Given the description of an element on the screen output the (x, y) to click on. 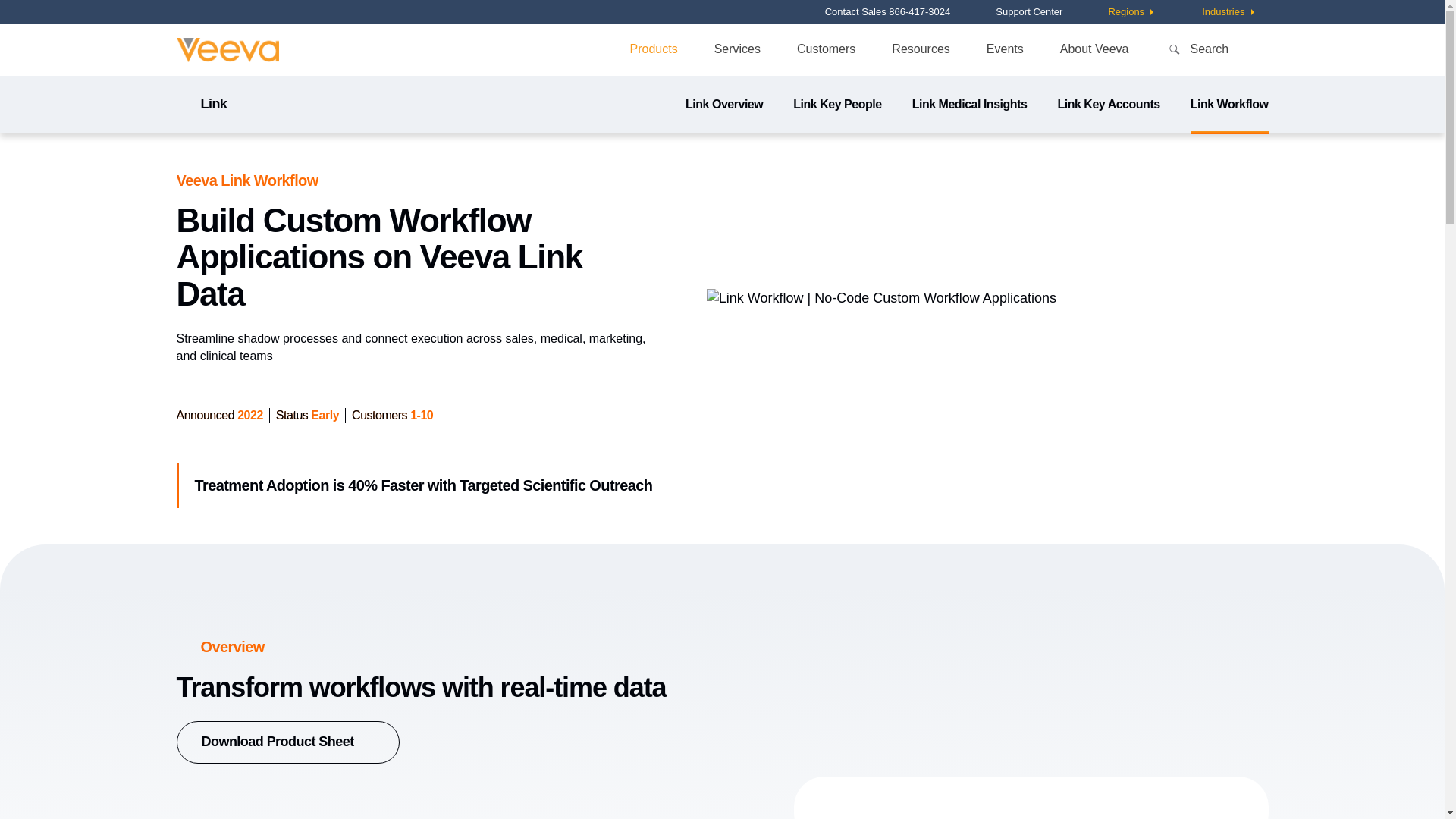
Support Center (1028, 11)
Contact Sales 866-417-3024 (887, 11)
Veeva (227, 50)
